Given the description of an element on the screen output the (x, y) to click on. 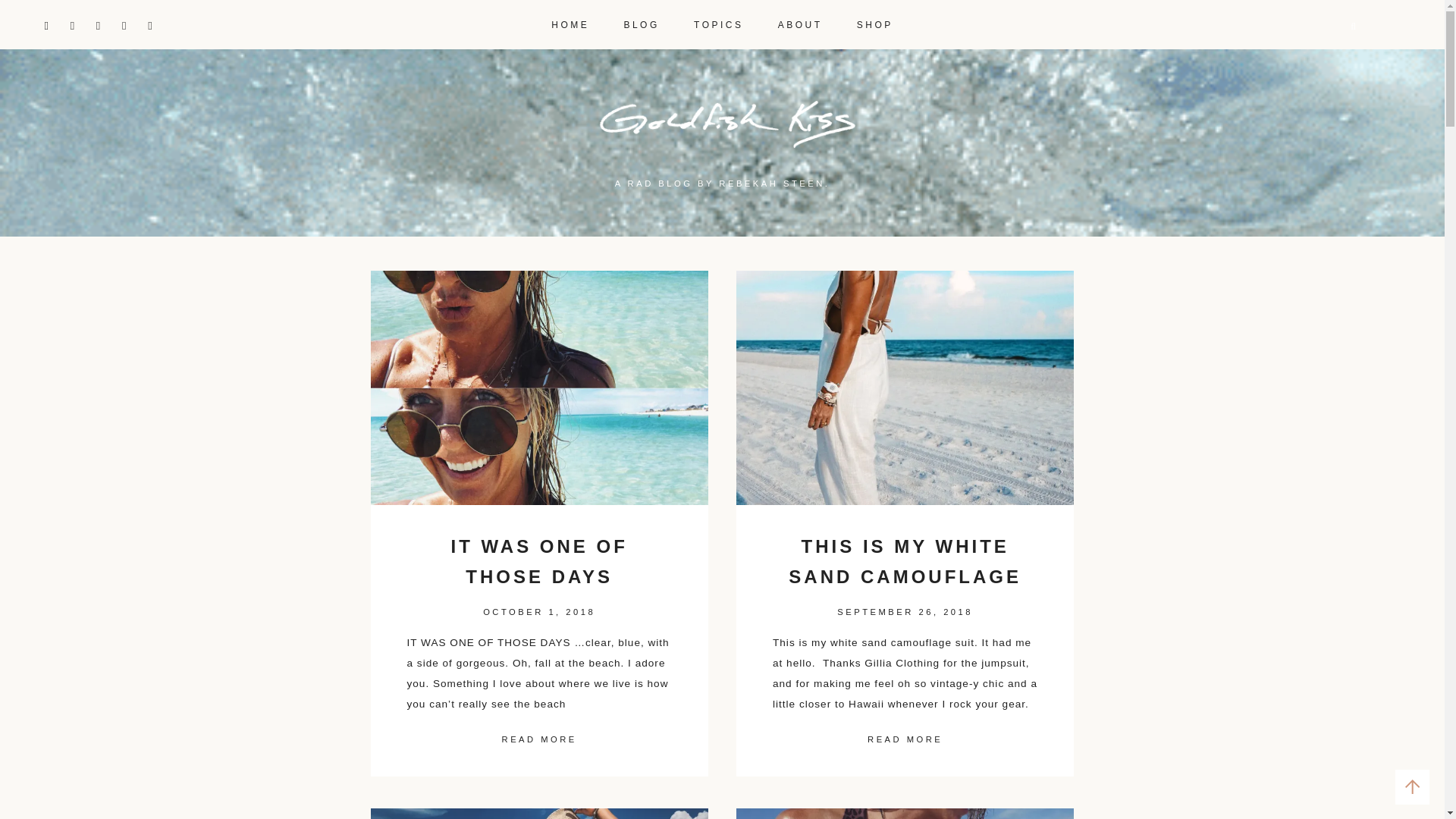
THIS IS MY WHITE SAND CAMOUFLAGE (905, 562)
SEPTEMBER 26, 2018 (904, 611)
OCTOBER 1, 2018 (539, 611)
READ MORE (539, 739)
ABOUT (799, 18)
HOME (570, 18)
READ MORE (904, 739)
Search (28, 9)
Search for: (1311, 26)
BLOG (641, 18)
